Given the description of an element on the screen output the (x, y) to click on. 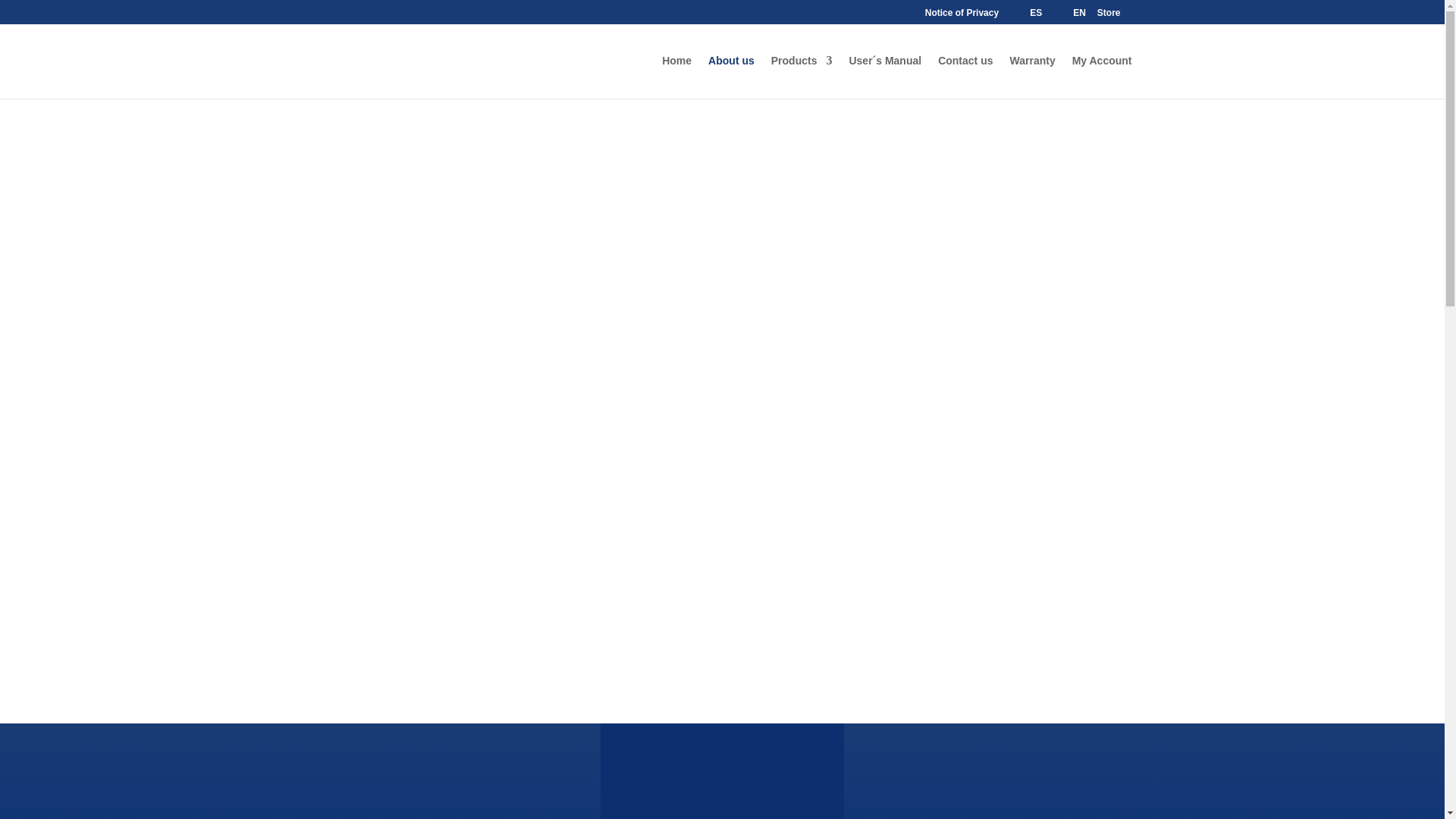
Warranty (1032, 76)
ES (1026, 15)
EN (1069, 15)
My Account (1101, 76)
Products (801, 76)
Store (1109, 16)
About us (730, 76)
Notice of Privacy (961, 16)
Contact us (964, 76)
